Given the description of an element on the screen output the (x, y) to click on. 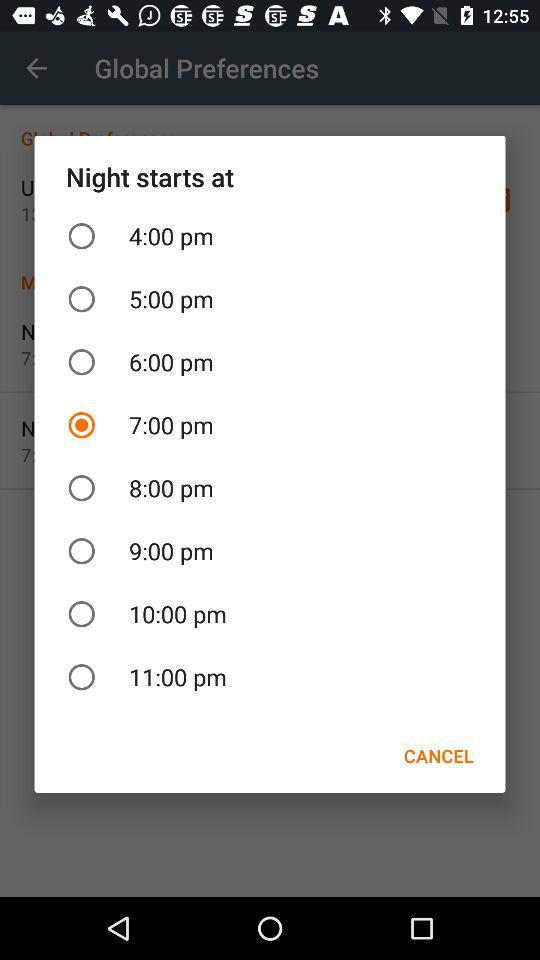
jump to the cancel icon (438, 755)
